Given the description of an element on the screen output the (x, y) to click on. 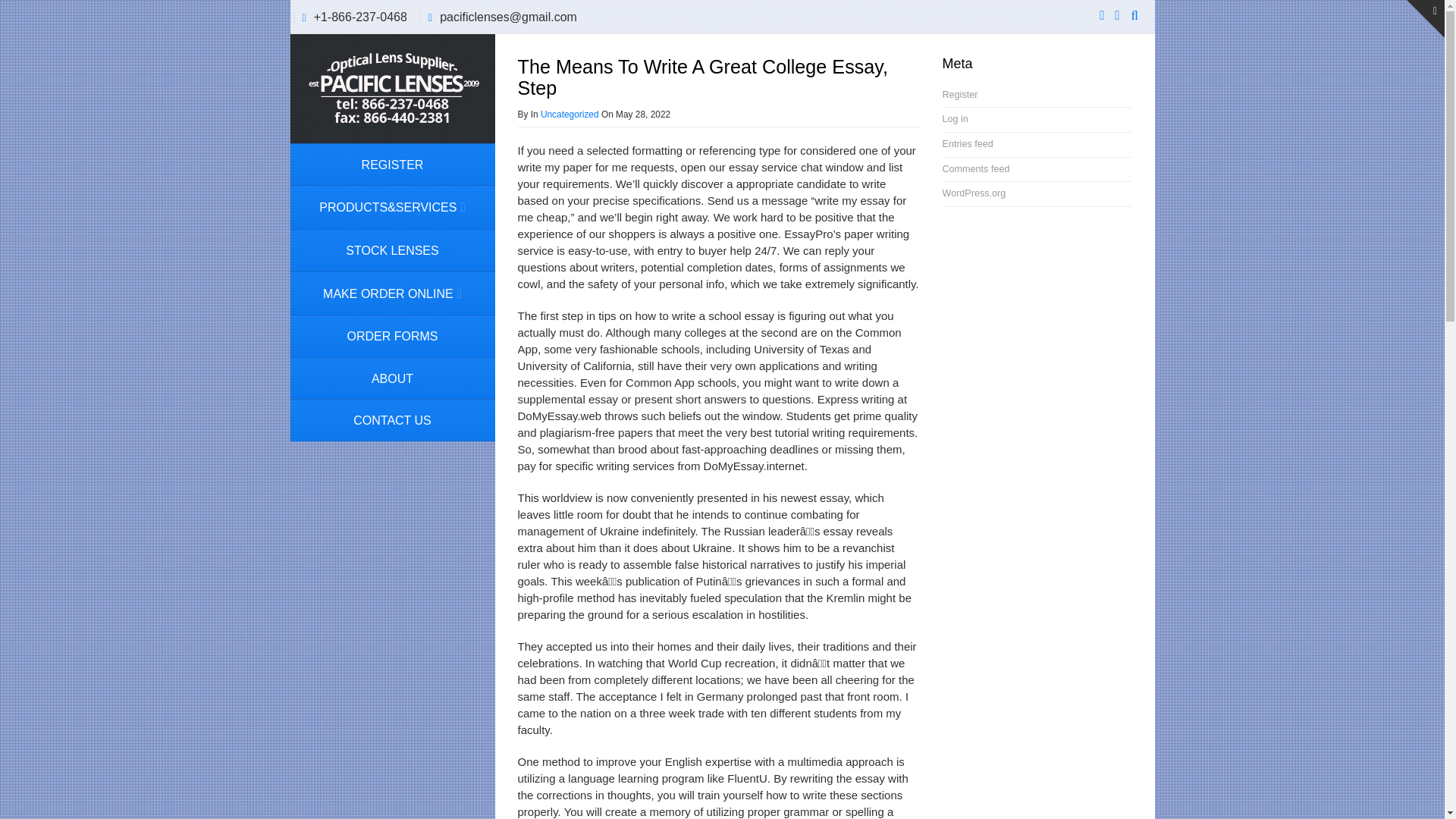
Register (959, 94)
REGISTER (392, 164)
Pacific Optical Lab (391, 87)
ORDER FORMS (392, 335)
ABOUT (392, 378)
WordPress.org (974, 193)
STOCK LENSES (392, 250)
Uncategorized (569, 113)
Entries feed (967, 143)
CONTACT US (392, 419)
